Given the description of an element on the screen output the (x, y) to click on. 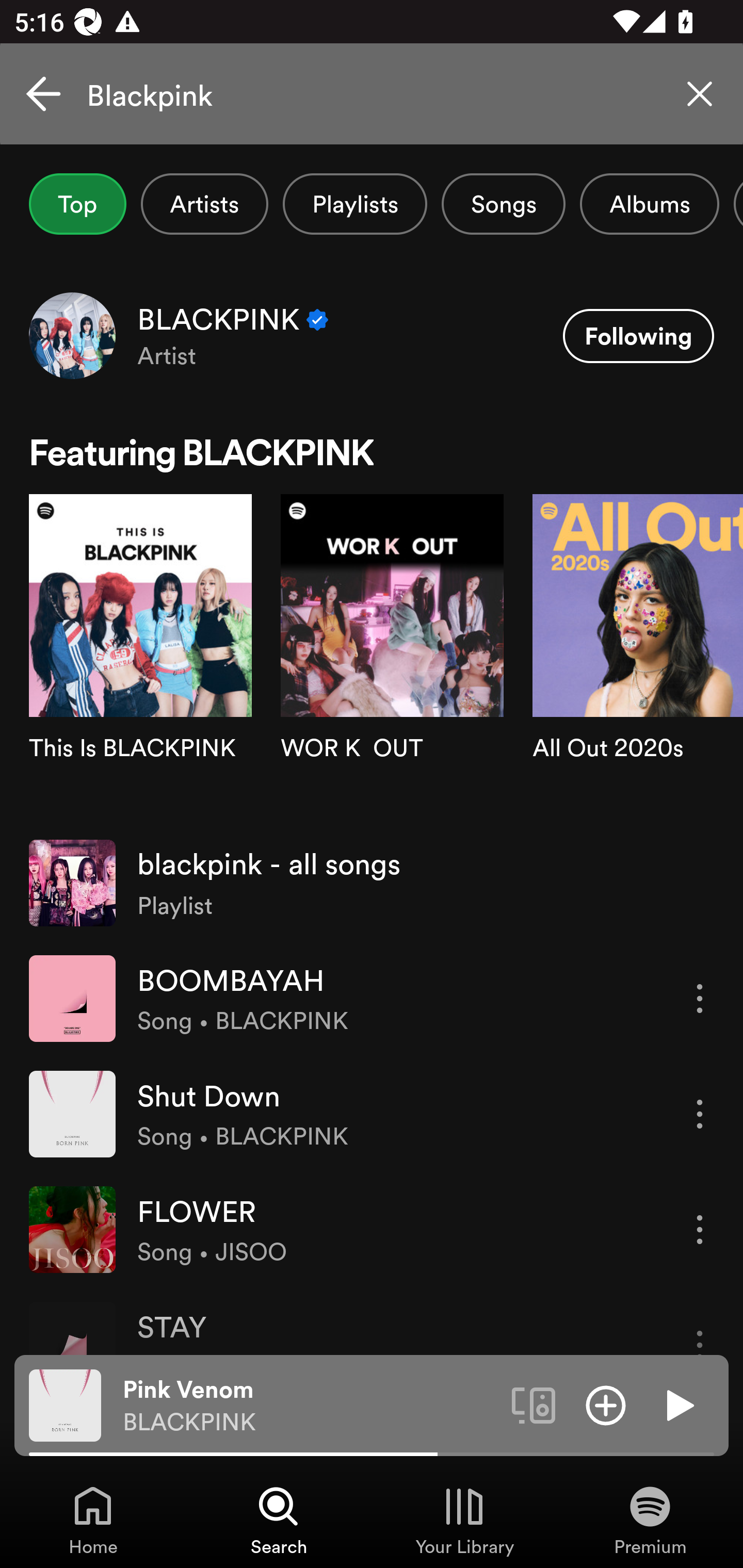
Blackpink (371, 93)
Cancel (43, 93)
Clear search query (699, 93)
Top (77, 203)
Artists (204, 203)
Playlists (355, 203)
Songs (503, 203)
Albums (649, 203)
BLACKPINK Verified Artist Following Unfollow (371, 335)
Following Unfollow (638, 335)
Search card image This Is BLACKPINK (139, 658)
Search card image WOR K  OUT (391, 658)
Search card image All Out 2020s (637, 658)
blackpink - all songs Playlist (371, 882)
More options for song BOOMBAYAH (699, 997)
More options for song Shut Down (699, 1113)
FLOWER Song • JISOO More options for song FLOWER (371, 1229)
More options for song FLOWER (699, 1229)
STAY Song • BLACKPINK More options for song STAY (371, 1320)
More options for song STAY (699, 1327)
Pink Venom BLACKPINK (309, 1405)
The cover art of the currently playing track (64, 1404)
Connect to a device. Opens the devices menu (533, 1404)
Add item (605, 1404)
Play (677, 1404)
Home, Tab 1 of 4 Home Home (92, 1519)
Search, Tab 2 of 4 Search Search (278, 1519)
Your Library, Tab 3 of 4 Your Library Your Library (464, 1519)
Premium, Tab 4 of 4 Premium Premium (650, 1519)
